Given the description of an element on the screen output the (x, y) to click on. 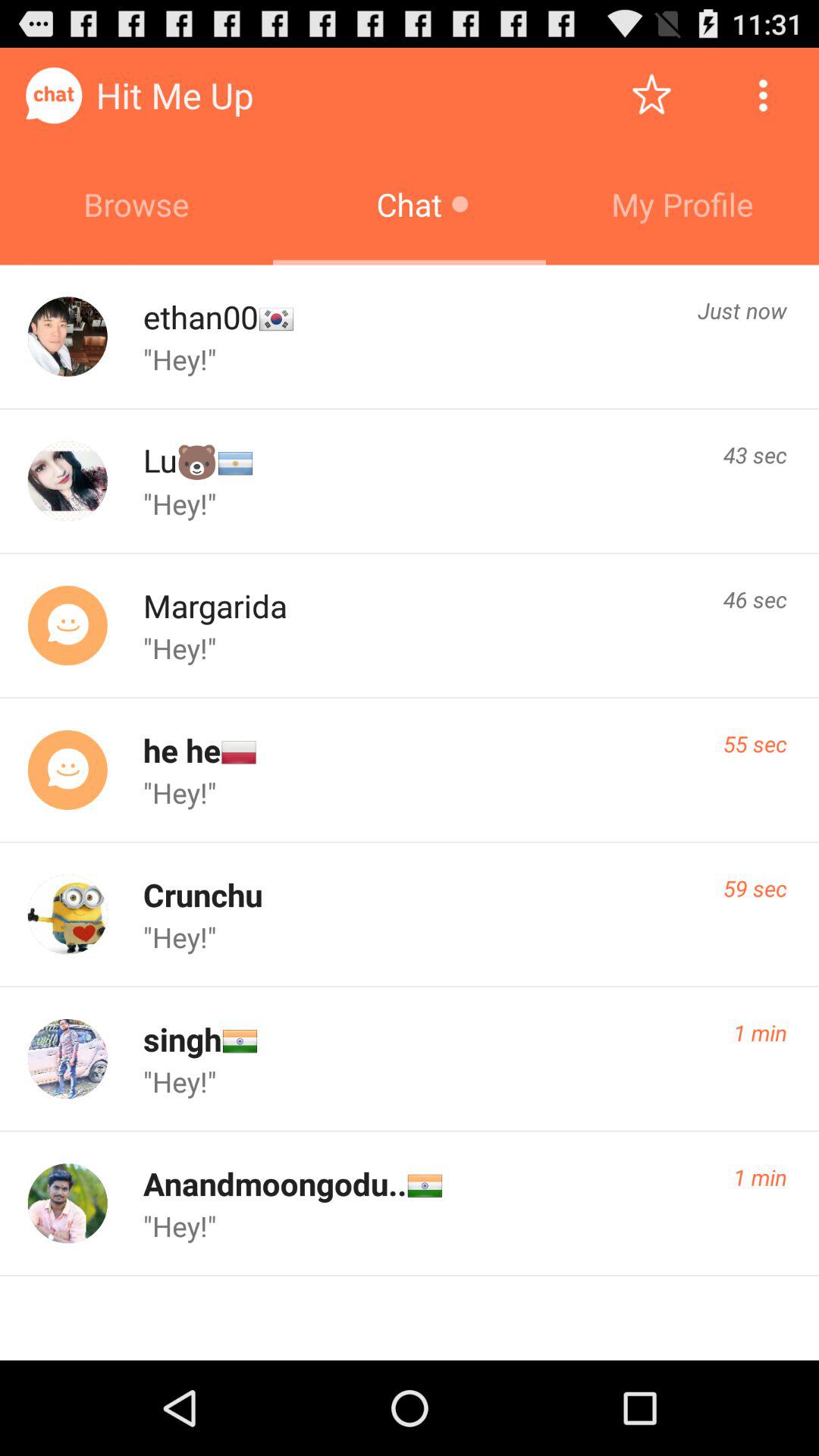
turn off the icon to the left of the chat (136, 204)
